Given the description of an element on the screen output the (x, y) to click on. 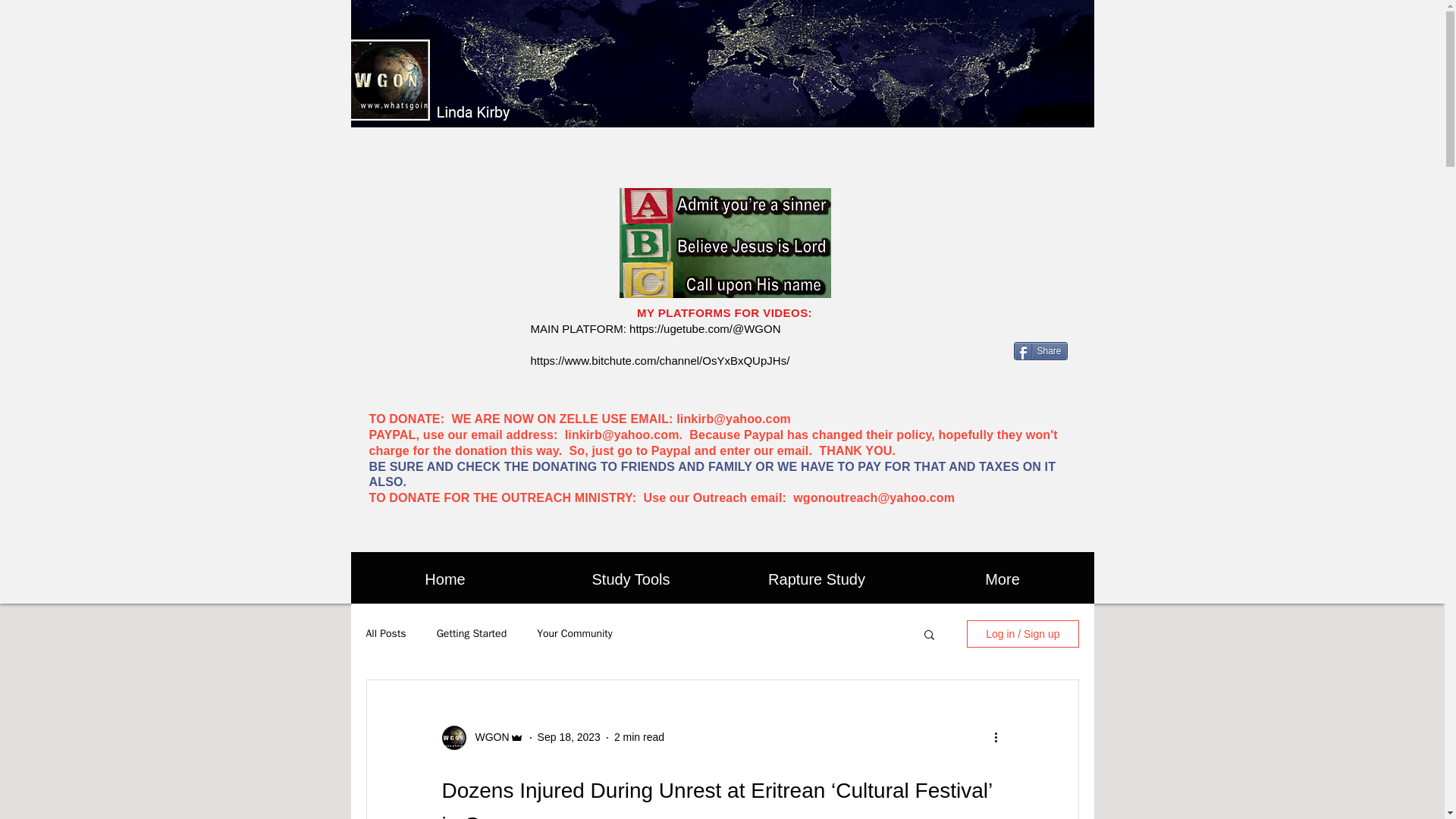
Share (1040, 351)
Share (1040, 351)
2 min read (638, 736)
Your Community (574, 633)
All Posts (385, 633)
Rapture Study (815, 579)
Study Tools (630, 579)
Getting Started (471, 633)
Sep 18, 2023 (568, 736)
Home (444, 579)
